Given the description of an element on the screen output the (x, y) to click on. 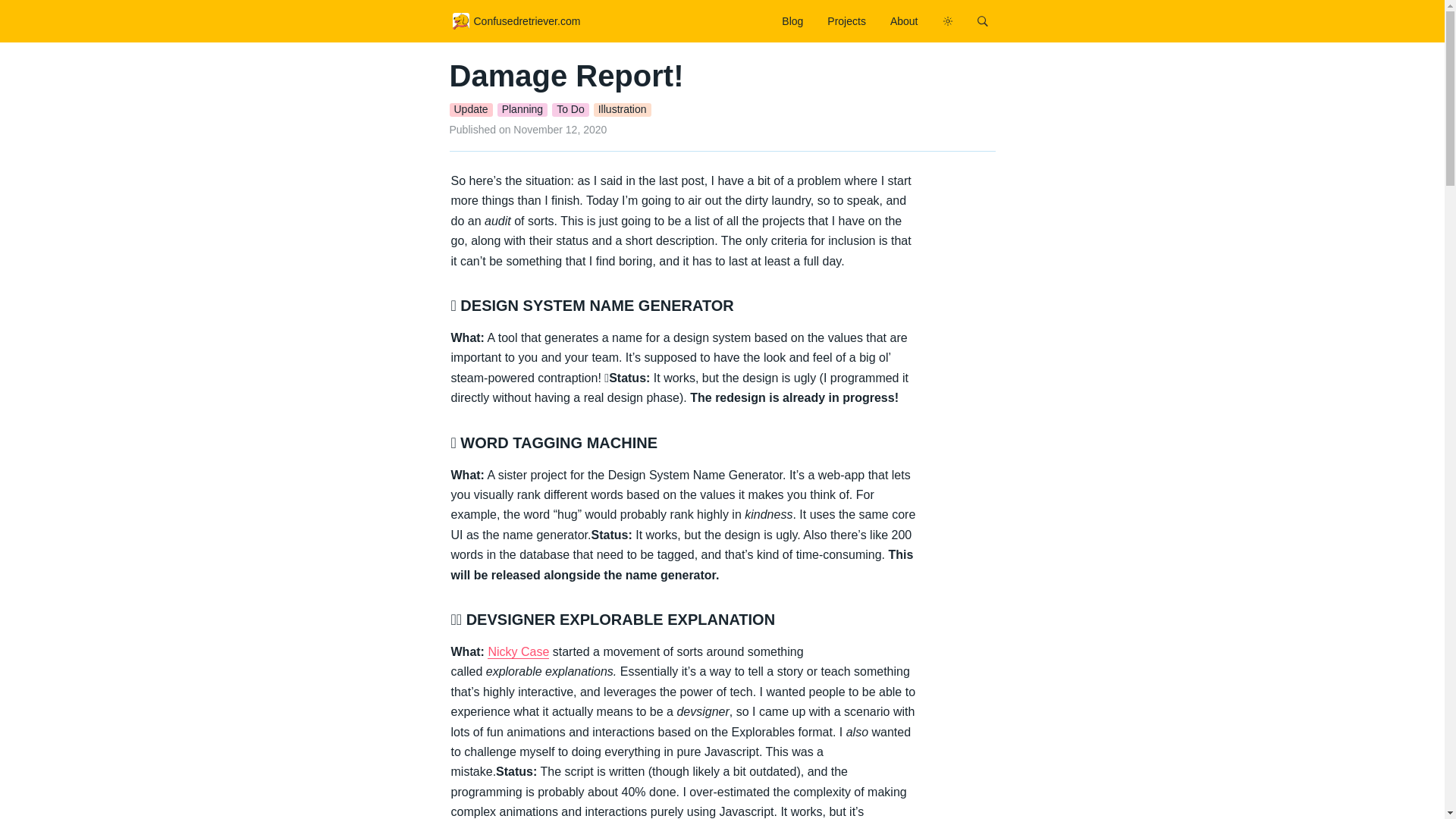
Confusedretriever.com (515, 20)
About (903, 20)
Projects (846, 20)
Blog (792, 20)
Nicky Case (517, 652)
